Given the description of an element on the screen output the (x, y) to click on. 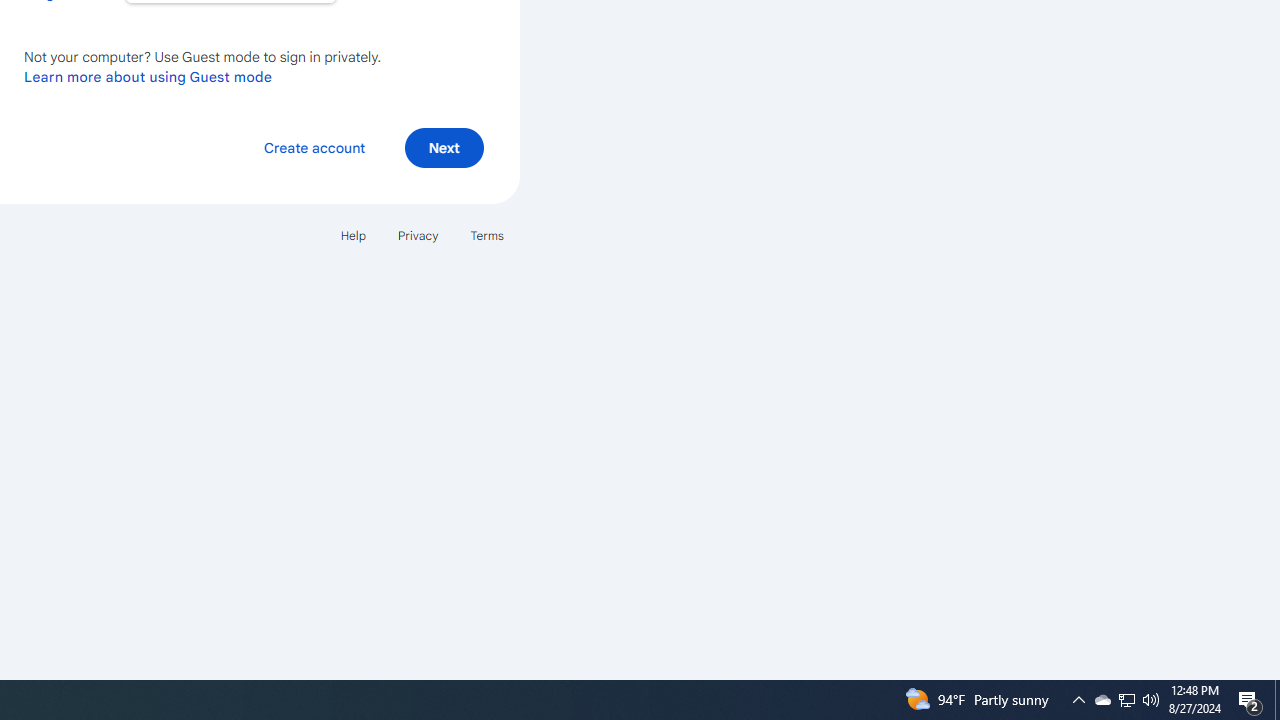
Create account (314, 146)
Next (443, 146)
Privacy (417, 234)
Help (352, 234)
Terms (486, 234)
Learn more about using Guest mode (148, 76)
